Given the description of an element on the screen output the (x, y) to click on. 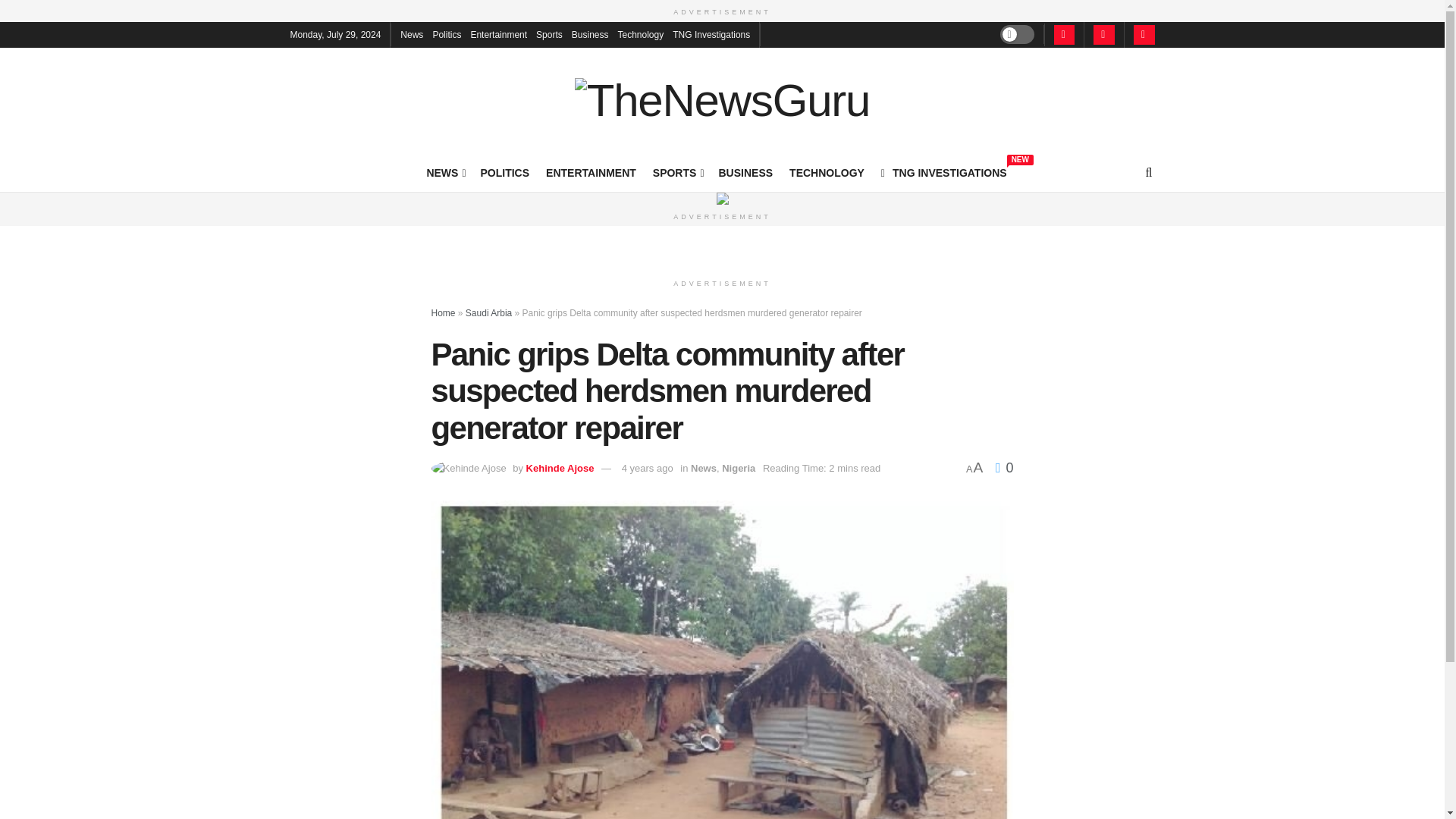
NEWS (444, 172)
Politics (446, 33)
Entertainment (498, 33)
TNG Investigations (710, 33)
Sports (548, 33)
BUSINESS (746, 172)
ENTERTAINMENT (591, 172)
POLITICS (504, 172)
Business (590, 33)
Technology (640, 33)
SPORTS (676, 172)
TECHNOLOGY (943, 172)
